Given the description of an element on the screen output the (x, y) to click on. 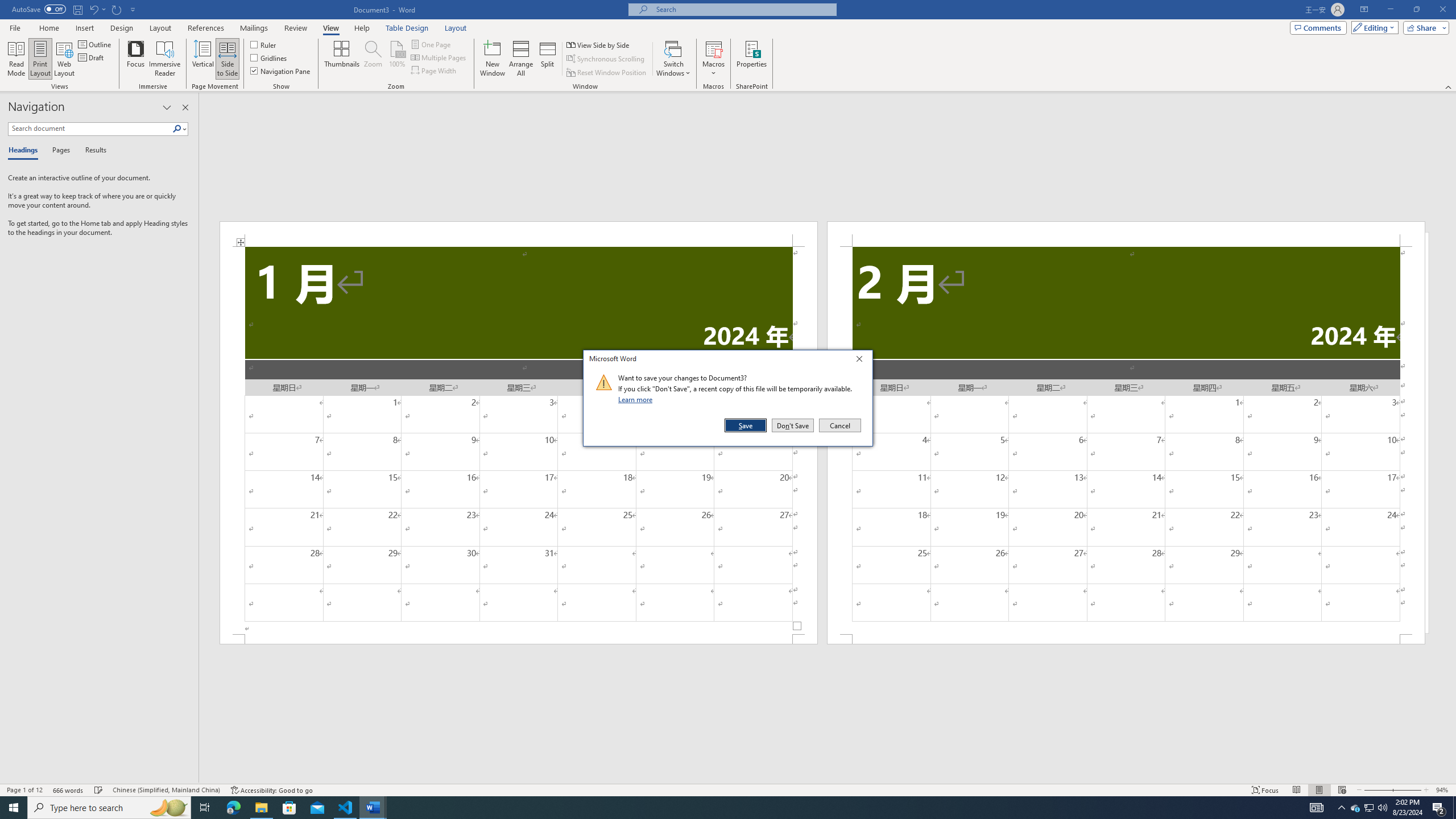
Running applications (717, 807)
Reset Window Position (606, 72)
File Explorer - 1 running window (261, 807)
Header -Section 2- (1126, 233)
Properties (751, 58)
Learn more (636, 399)
Draft (91, 56)
